Given the description of an element on the screen output the (x, y) to click on. 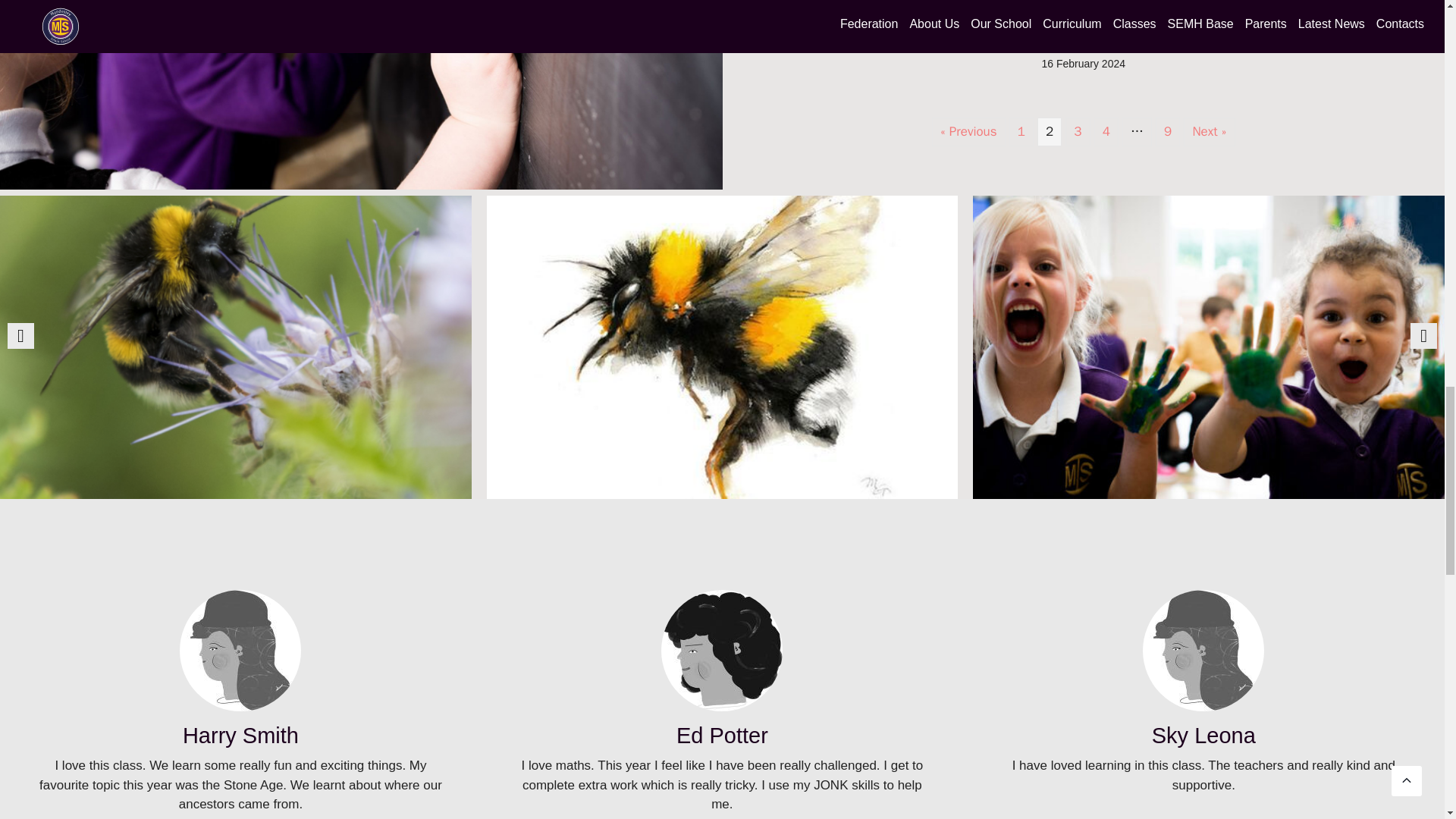
E7aa3a572c304acab0b9a53dd42fa5f9 (1202, 650)
Neverland Class update (1083, 36)
5ddf2b4eb66e47828ed385d9fb6049cc (722, 650)
E7aa3a572c304acab0b9a53dd42fa5f9 (240, 650)
Neverland Class update (1083, 36)
